Given the description of an element on the screen output the (x, y) to click on. 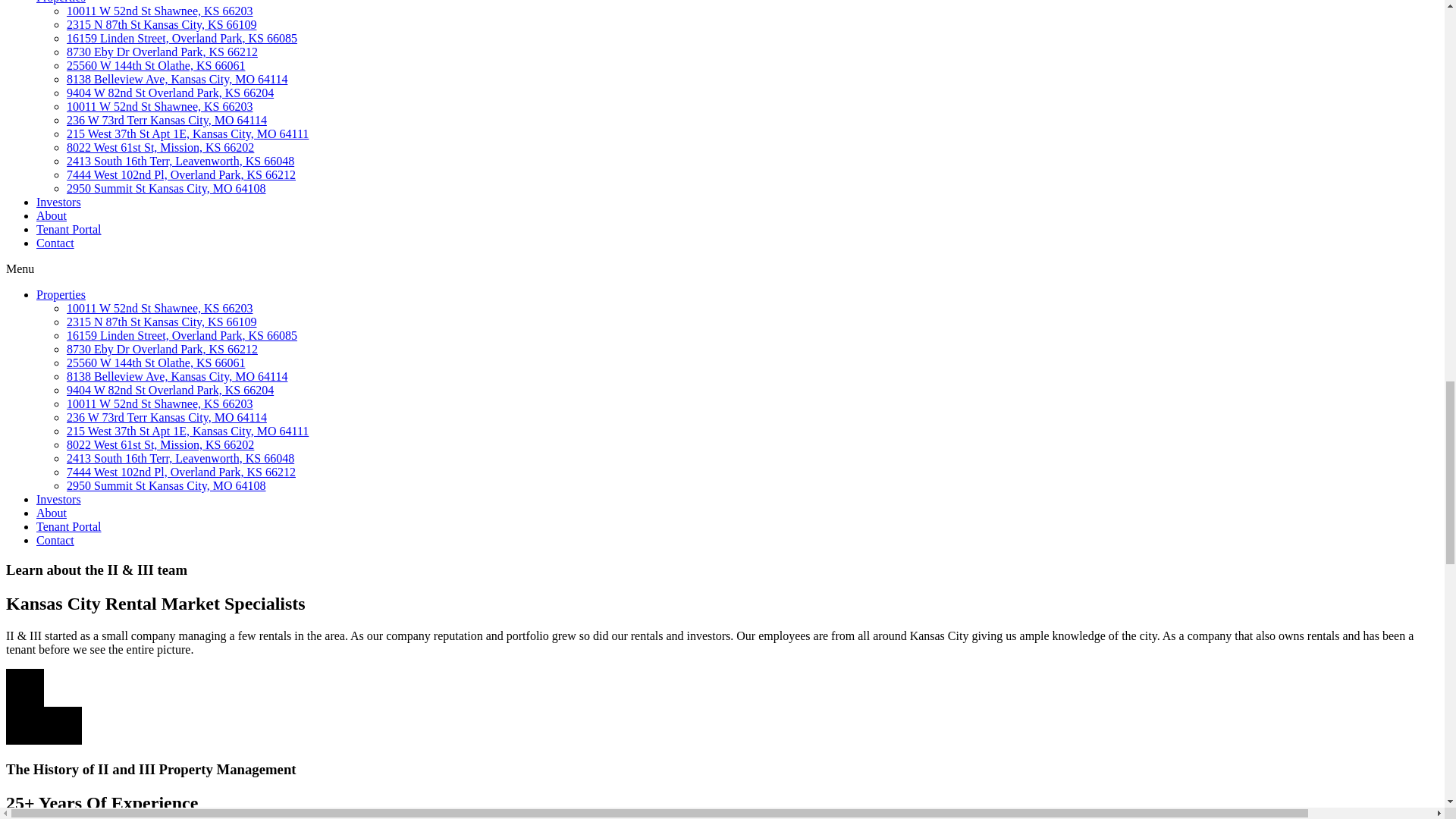
16159 Linden Street, Overland Park, KS 66085 (181, 38)
25560 W 144th St Olathe, KS 66061 (155, 362)
Tenant Portal (68, 526)
Properties (60, 294)
236 W 73rd Terr Kansas City, MO 64114 (166, 417)
Investors (58, 499)
215 West 37th St Apt 1E, Kansas City, MO 64111 (187, 431)
2950 Summit St Kansas City, MO 64108 (166, 485)
2413 South 16th Terr, Leavenworth, KS 66048 (180, 458)
About (51, 512)
